Given the description of an element on the screen output the (x, y) to click on. 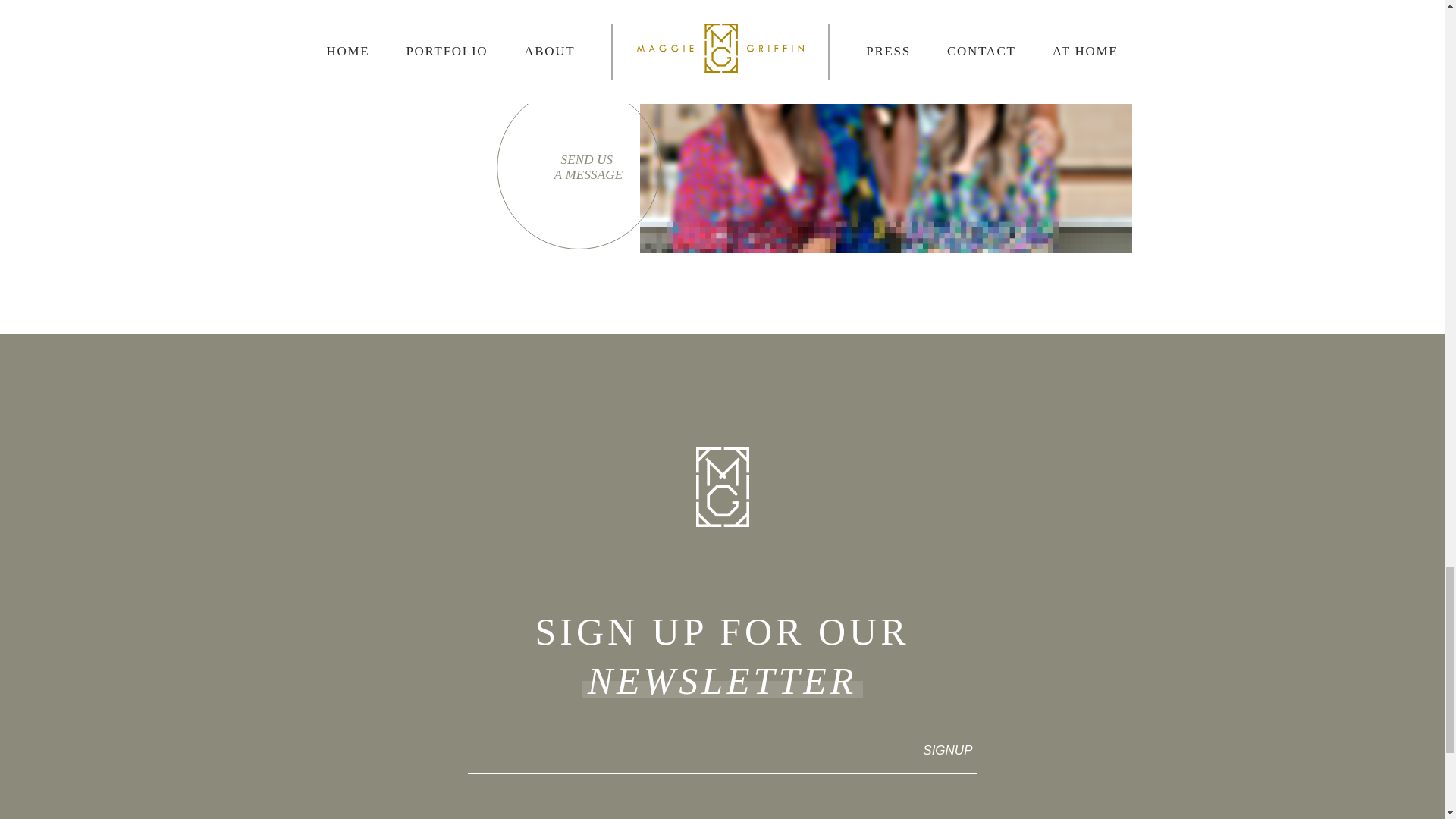
SIGNUP (937, 750)
